Given the description of an element on the screen output the (x, y) to click on. 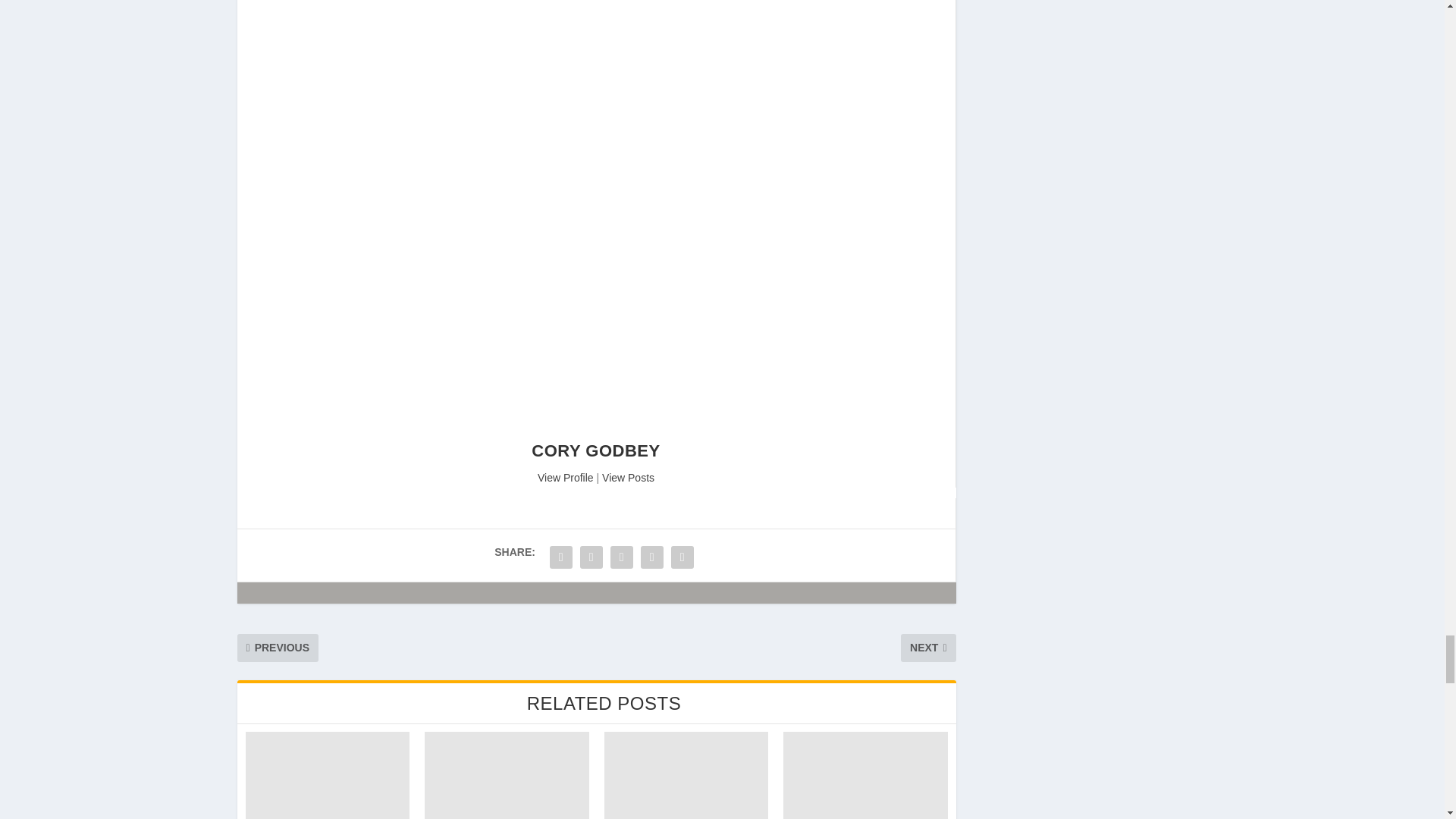
About the author (565, 477)
Share "An Illustrated Ghost-Story of Christmas" via Twitter (591, 557)
A Sketchbook Preview: The Woods In-between (507, 775)
Share "An Illustrated Ghost-Story of Christmas" via Tumblr (651, 557)
Share "An Illustrated Ghost-Story of Christmas" via Facebook (561, 557)
View all posts by Cory Godbey (595, 450)
The Wonder-Book for Girls and Boys (328, 775)
Pins: A Peek at the Process (686, 775)
About the author (596, 432)
